Given the description of an element on the screen output the (x, y) to click on. 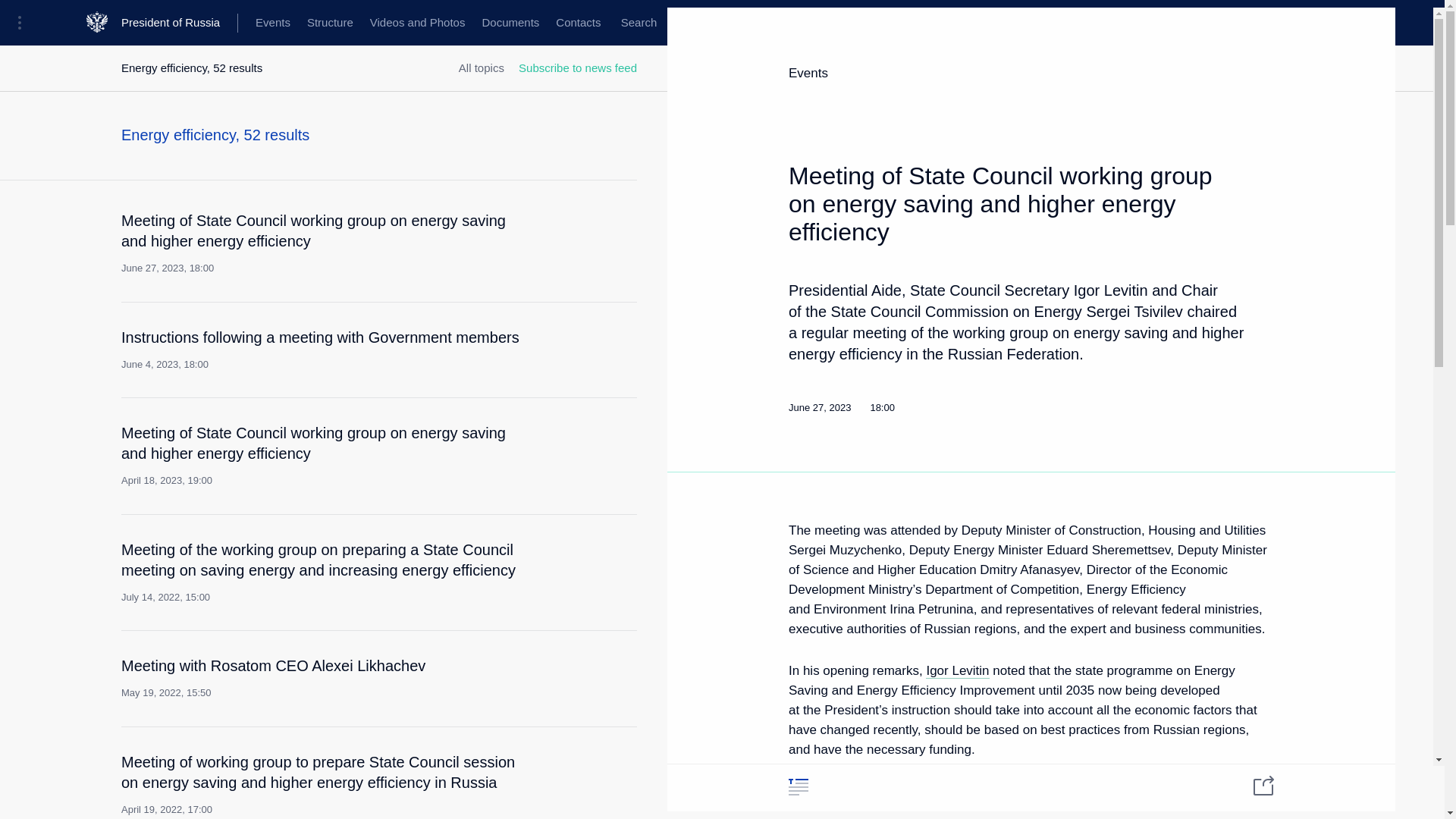
President of Russia (179, 22)
Structure (329, 22)
Contacts (577, 22)
Global website search (638, 22)
Events (272, 22)
Share (1253, 784)
Text (798, 786)
Search (638, 22)
Videos and Photos (417, 22)
